Given the description of an element on the screen output the (x, y) to click on. 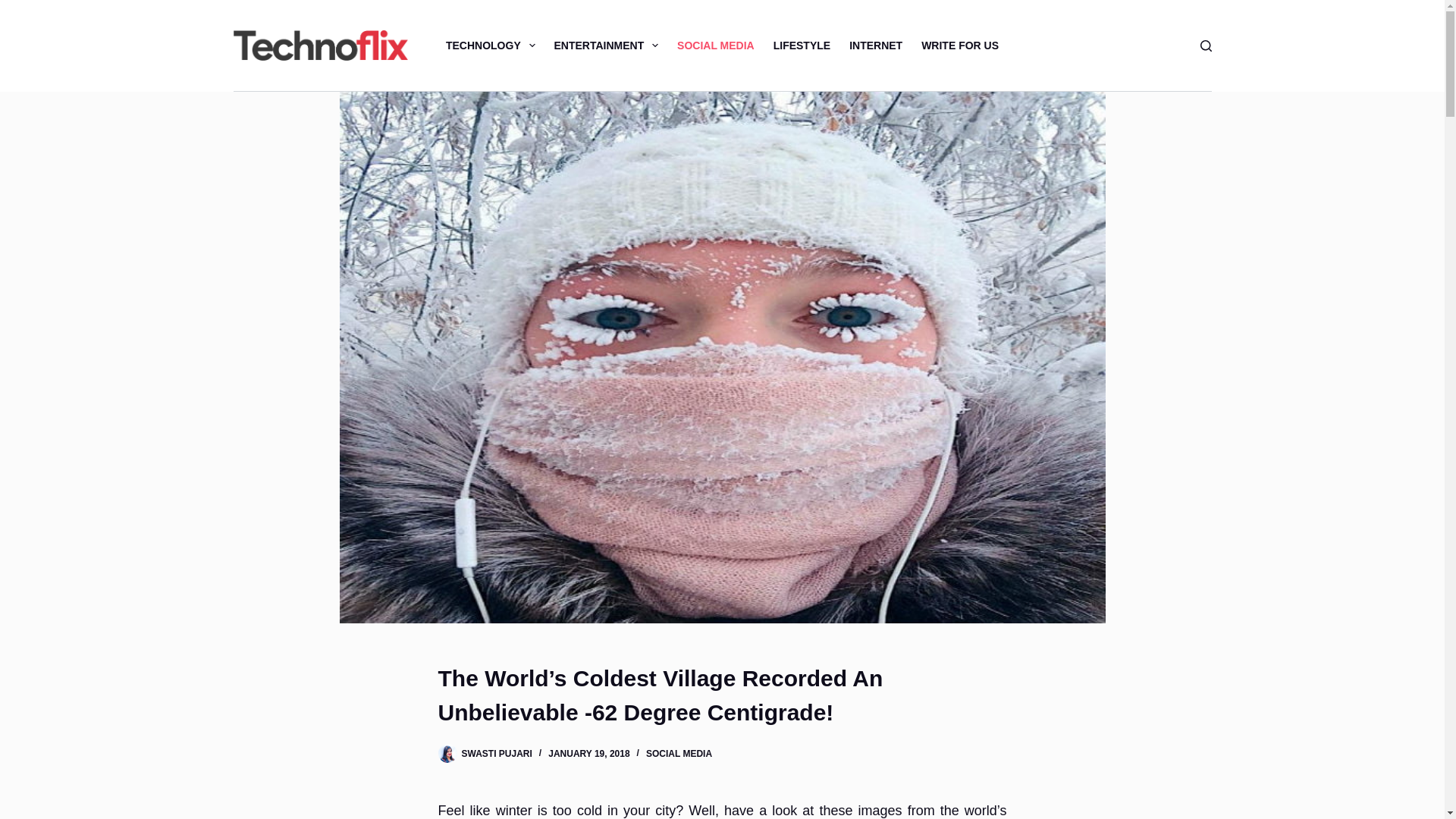
SWASTI PUJARI (496, 753)
WRITE FOR US (960, 45)
SOCIAL MEDIA (678, 753)
ENTERTAINMENT (606, 45)
SOCIAL MEDIA (716, 45)
Skip to content (15, 7)
TECHNOLOGY (489, 45)
Posts by Swasti Pujari (496, 753)
